Given the description of an element on the screen output the (x, y) to click on. 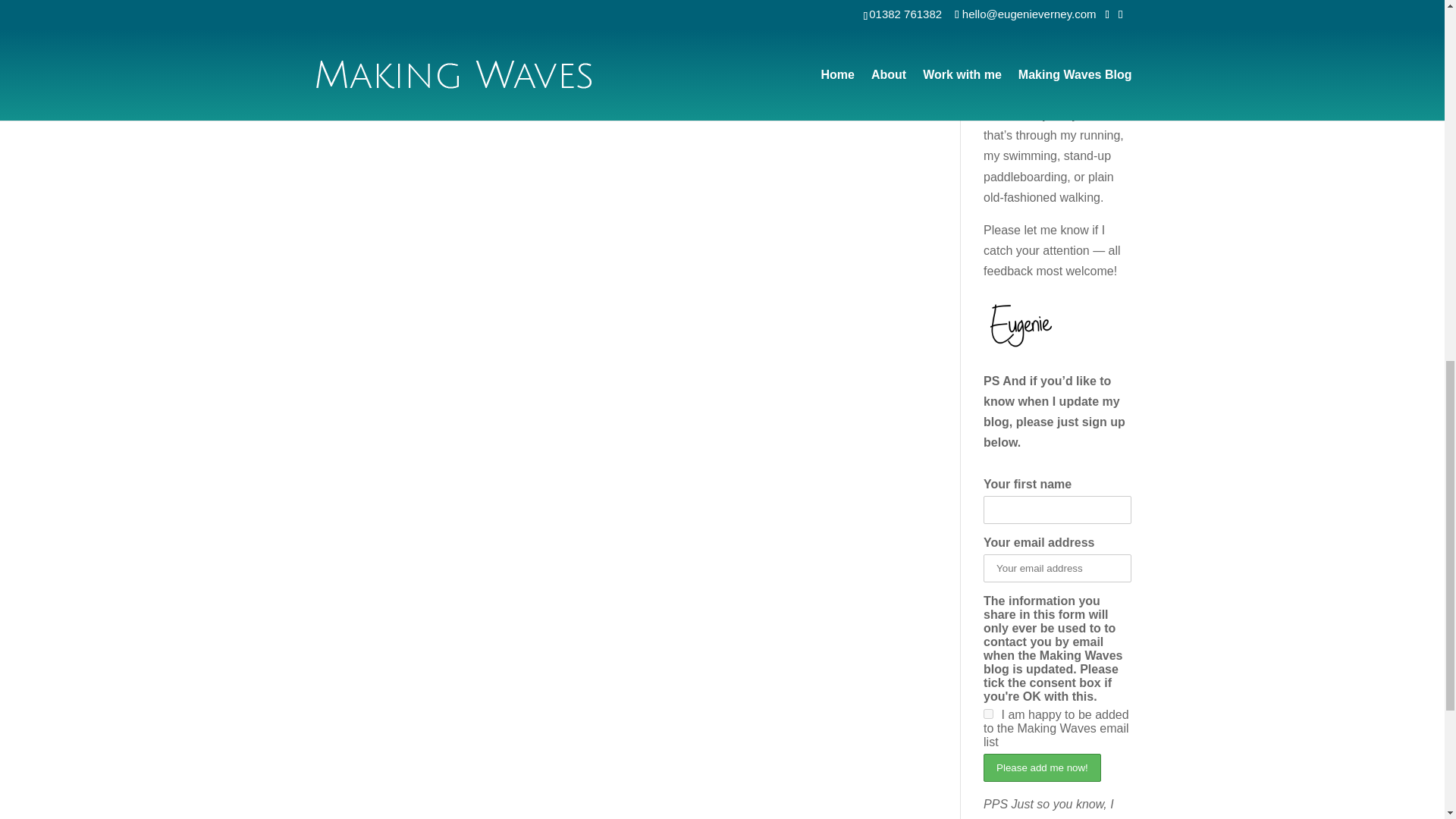
Please add me now! (1042, 767)
Please add me now! (1042, 767)
4c7f6ba955 (988, 714)
